Given the description of an element on the screen output the (x, y) to click on. 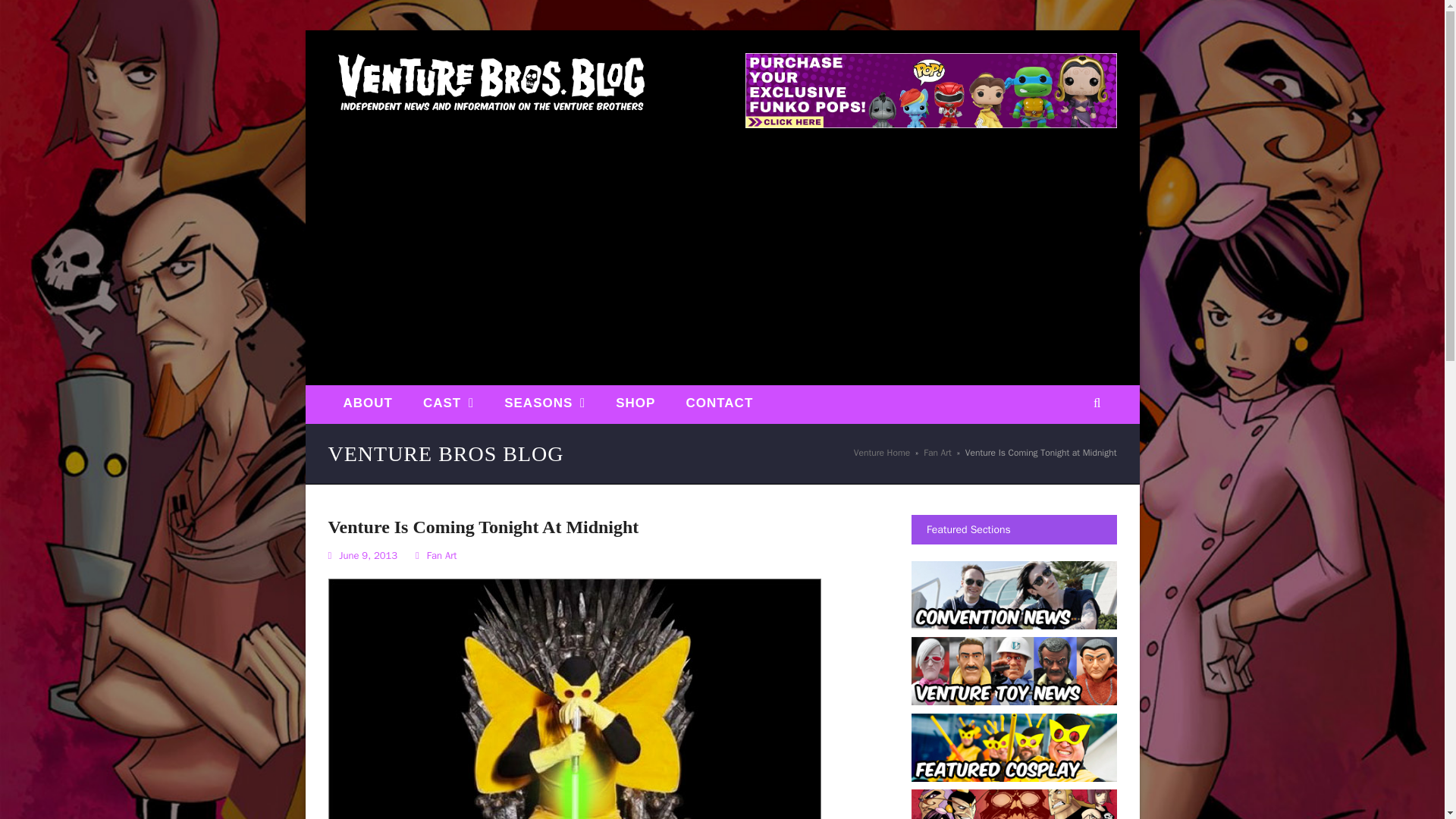
SEASONS (544, 403)
Purchase exclusive Funko Pops for less (930, 124)
Contact Venture Bros Blog (718, 403)
Fan Art (937, 452)
Venture Is Coming Tonight at Midnight 1 (574, 698)
Cast (448, 403)
ABOUT (367, 403)
Seasons (544, 403)
CAST (448, 403)
CONTACT (718, 403)
Fan Art (441, 555)
SHOP (634, 403)
About Venture Bros Blog (367, 403)
Venture Home (881, 452)
Entertainment Earth has the cool stuff you want (634, 403)
